Given the description of an element on the screen output the (x, y) to click on. 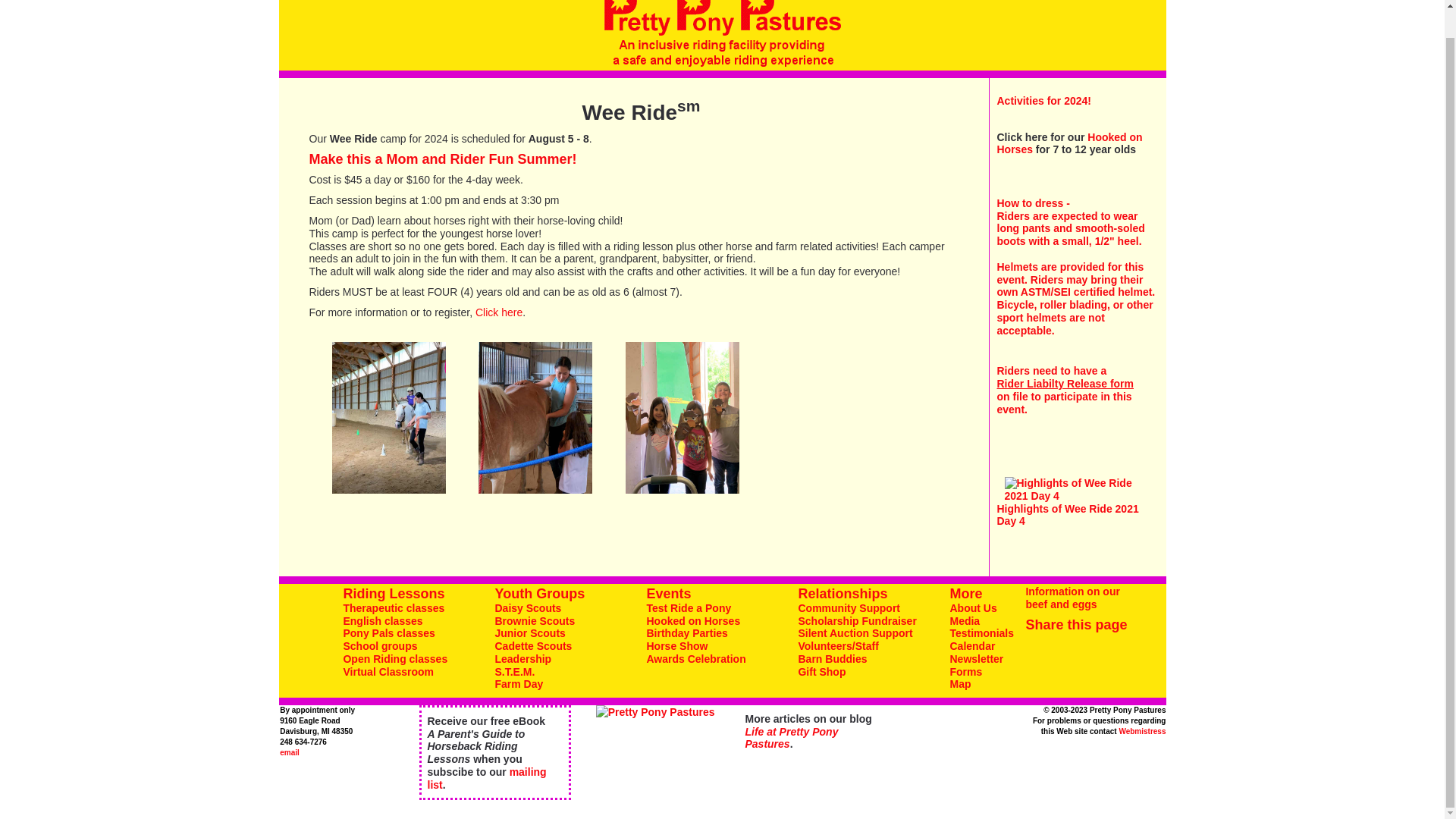
Riding Lessons (393, 593)
Farm Day (519, 684)
Newsletter (976, 658)
Hooked on Horses (1068, 143)
English classes (382, 621)
Cadette Scouts (533, 645)
Relationships (841, 593)
Virtual Classroom (387, 671)
Testimonials (981, 633)
Community Support (848, 607)
Youth Groups (540, 593)
About Us (972, 607)
Highlights of Wee Ride 2021 Day 4 (1066, 514)
Junior Scouts (529, 633)
Calendar (971, 645)
